Given the description of an element on the screen output the (x, y) to click on. 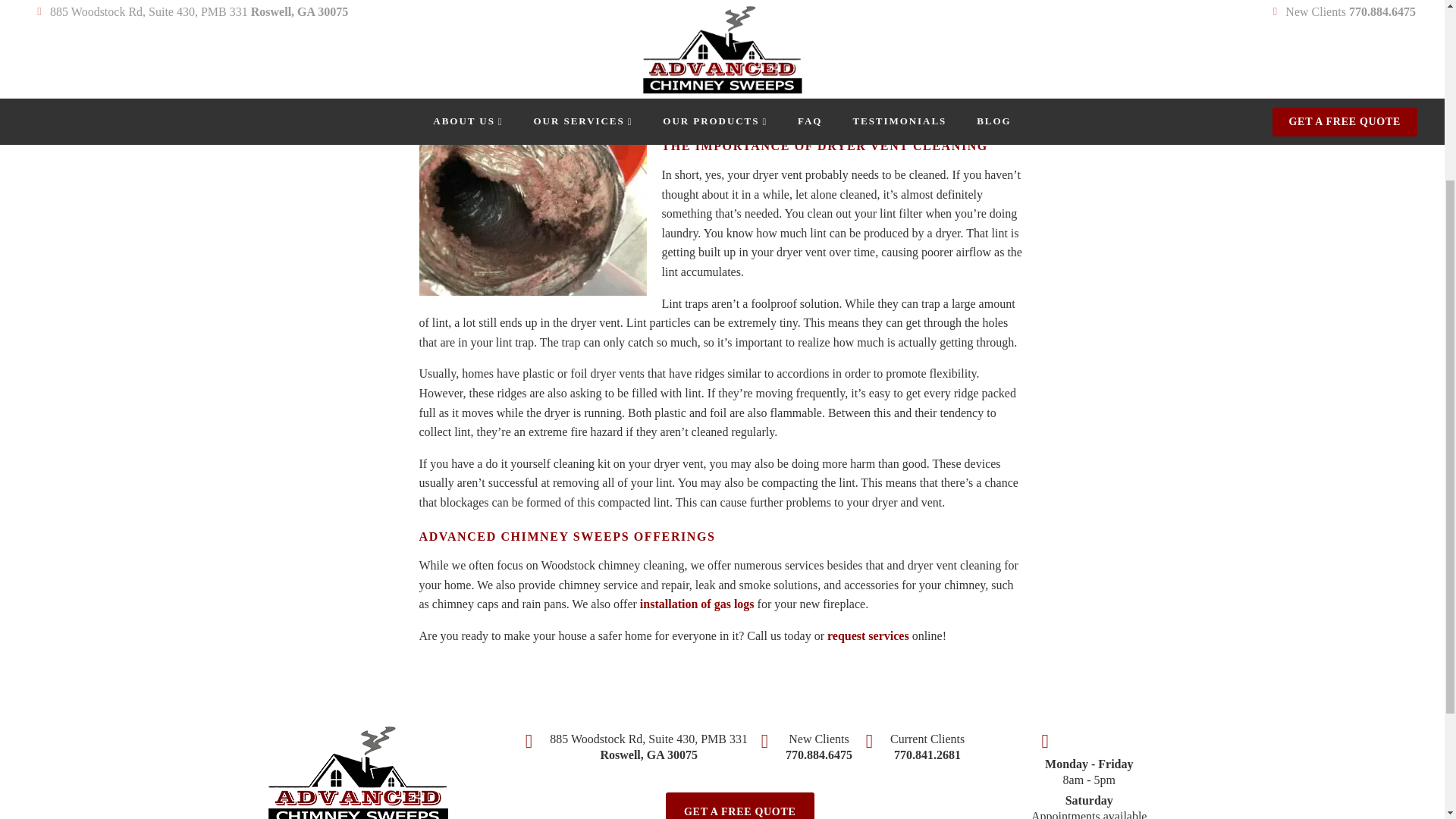
request services (867, 635)
Advanced Chimney Sweeps (777, 111)
installation of gas logs (697, 603)
dryer vents (525, 91)
